Given the description of an element on the screen output the (x, y) to click on. 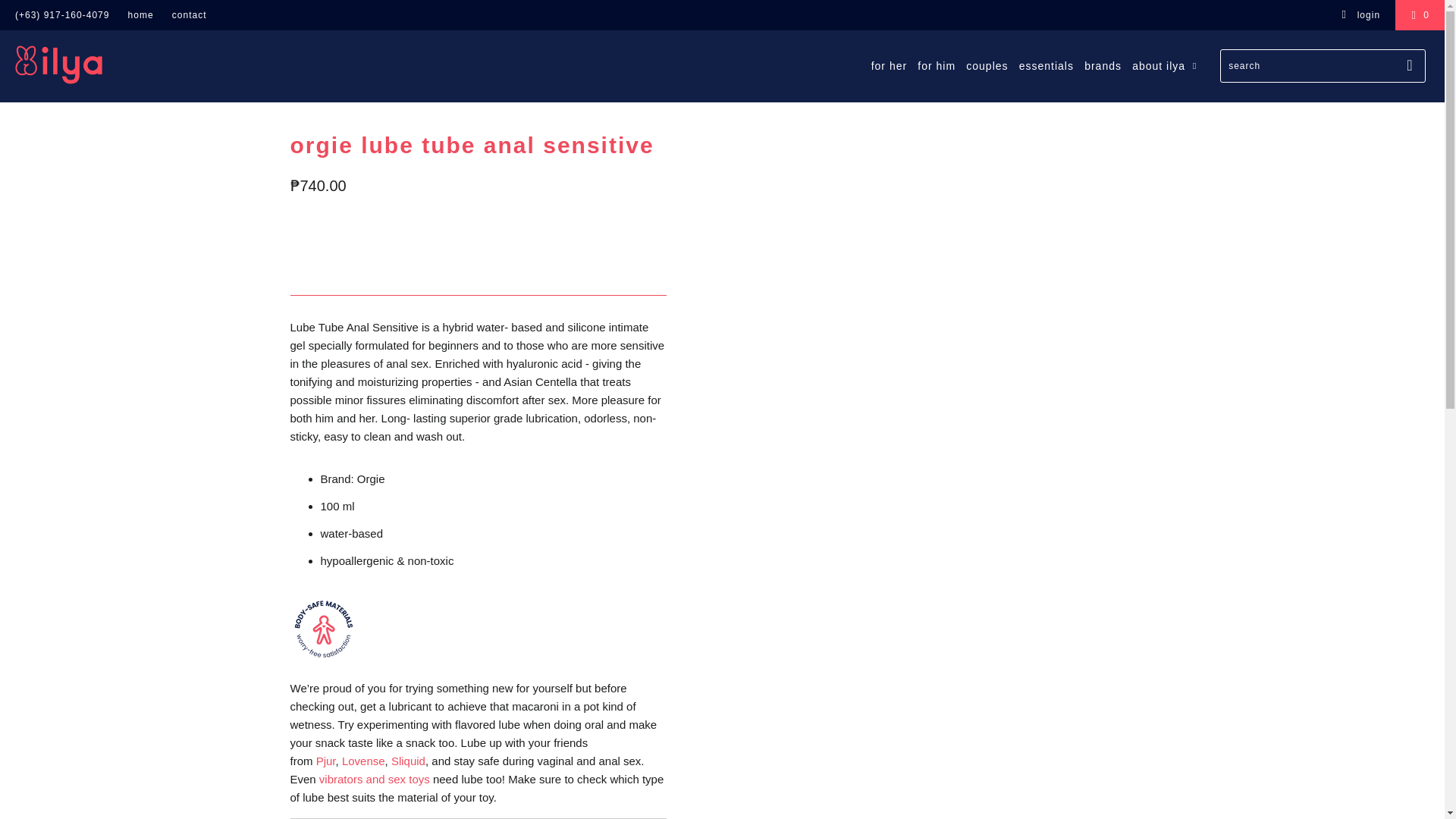
for him (936, 66)
about ilya (1166, 65)
for her (888, 66)
brands (1102, 66)
essentials (1046, 66)
 ilya (122, 64)
couples (986, 66)
login (1360, 15)
contact (188, 15)
My Account  (1360, 15)
